Given the description of an element on the screen output the (x, y) to click on. 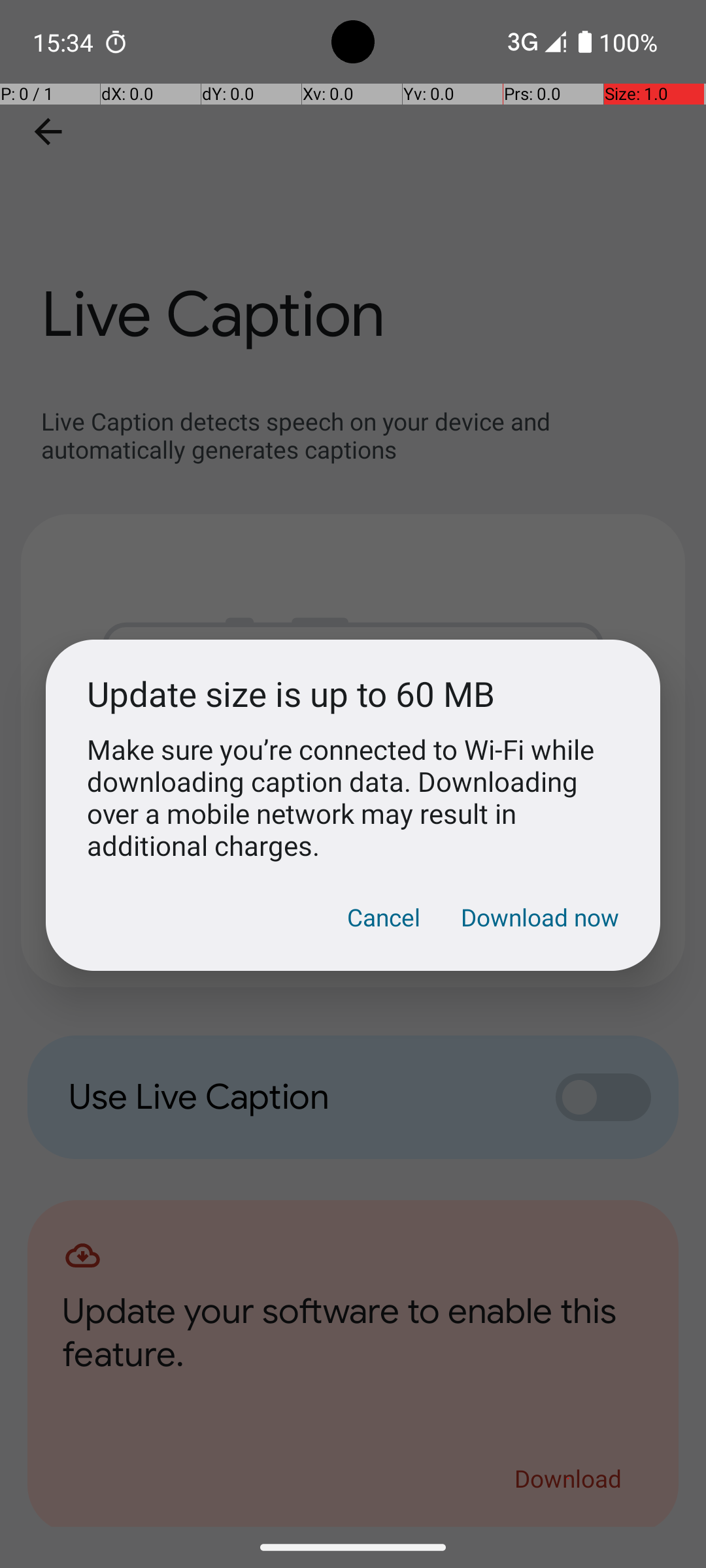
Update size is up to 60 MB Element type: android.widget.TextView (352, 693)
Make sure you’re connected to Wi-Fi while downloading caption data. Downloading over a mobile network may result in additional charges. Element type: android.widget.TextView (352, 796)
Download now Element type: android.widget.Button (539, 916)
